Given the description of an element on the screen output the (x, y) to click on. 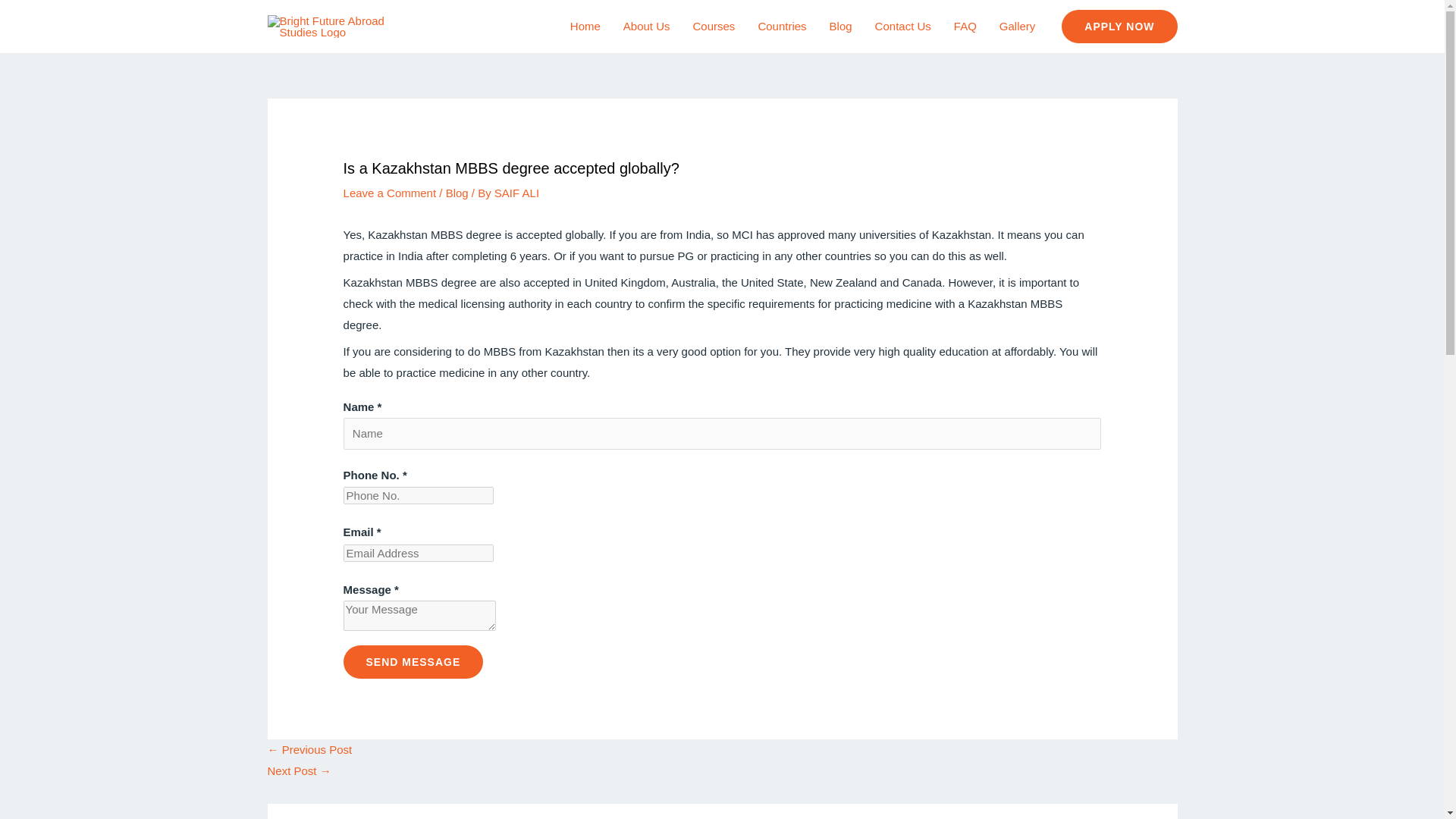
Leave a Comment (389, 192)
Blog (456, 192)
APPLY NOW (1118, 26)
SEND MESSAGE (413, 661)
Gallery (1017, 26)
Home (585, 26)
Courses (713, 26)
SAIF ALI (516, 192)
Do MBBS students get semester holidays? (309, 748)
Is my Kyrgyzstan MBBS degree valid in Spain? (298, 770)
